Given the description of an element on the screen output the (x, y) to click on. 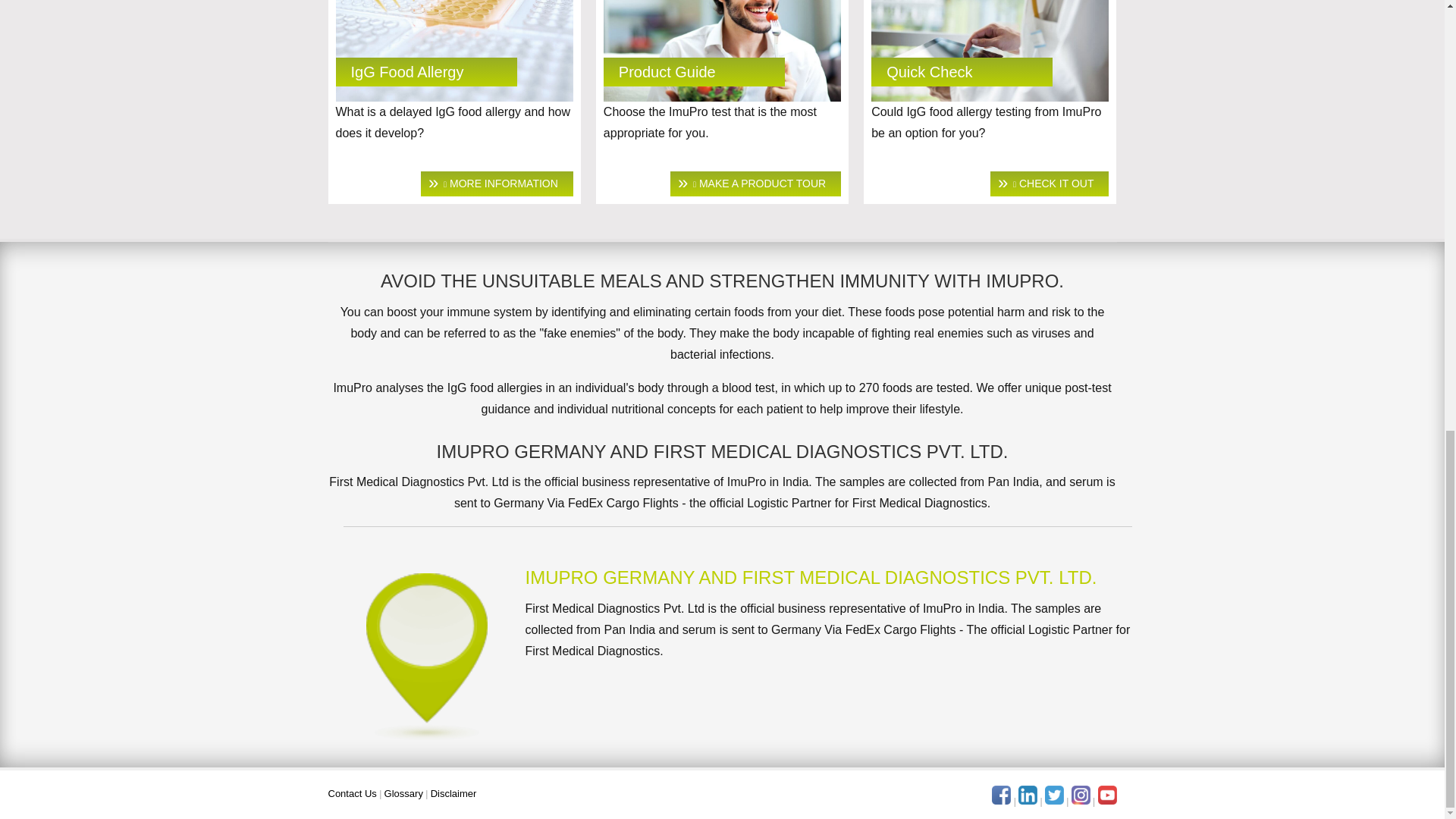
Quick Check (929, 71)
Product Guide (722, 51)
IgG Food Allergy (453, 51)
Product Guide (667, 71)
Product Guide (755, 183)
Quick Check (989, 51)
IgG Food Allergy (406, 71)
Quick Check (1049, 183)
IgG Food Allergy (496, 183)
